Given the description of an element on the screen output the (x, y) to click on. 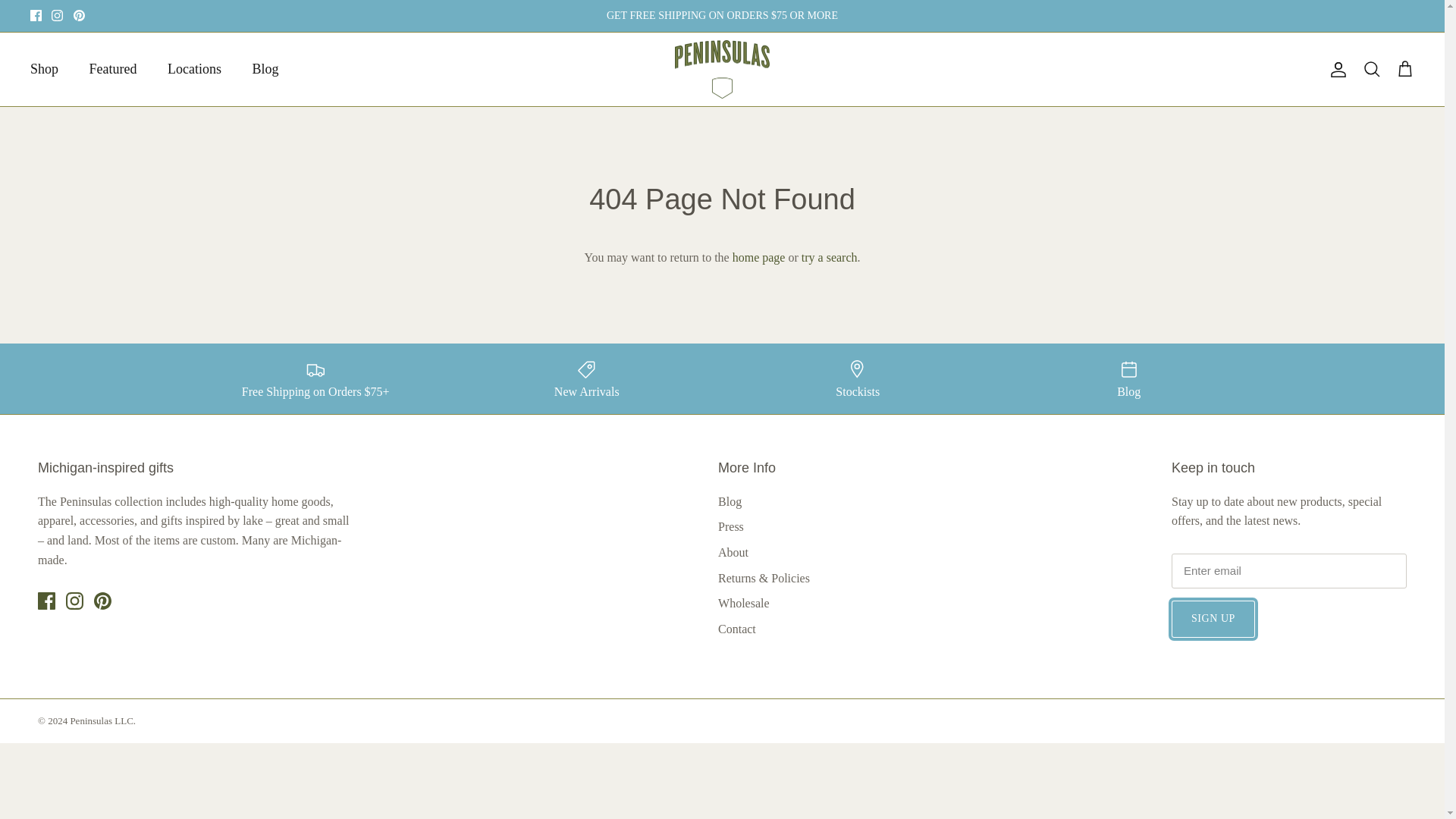
Account (1335, 69)
Pinterest (103, 600)
Instagram (56, 15)
Instagram (73, 600)
Peninsulas (722, 69)
Locations (194, 69)
Instagram (56, 15)
Featured (113, 69)
Facebook (46, 600)
Pinterest (78, 15)
